Given the description of an element on the screen output the (x, y) to click on. 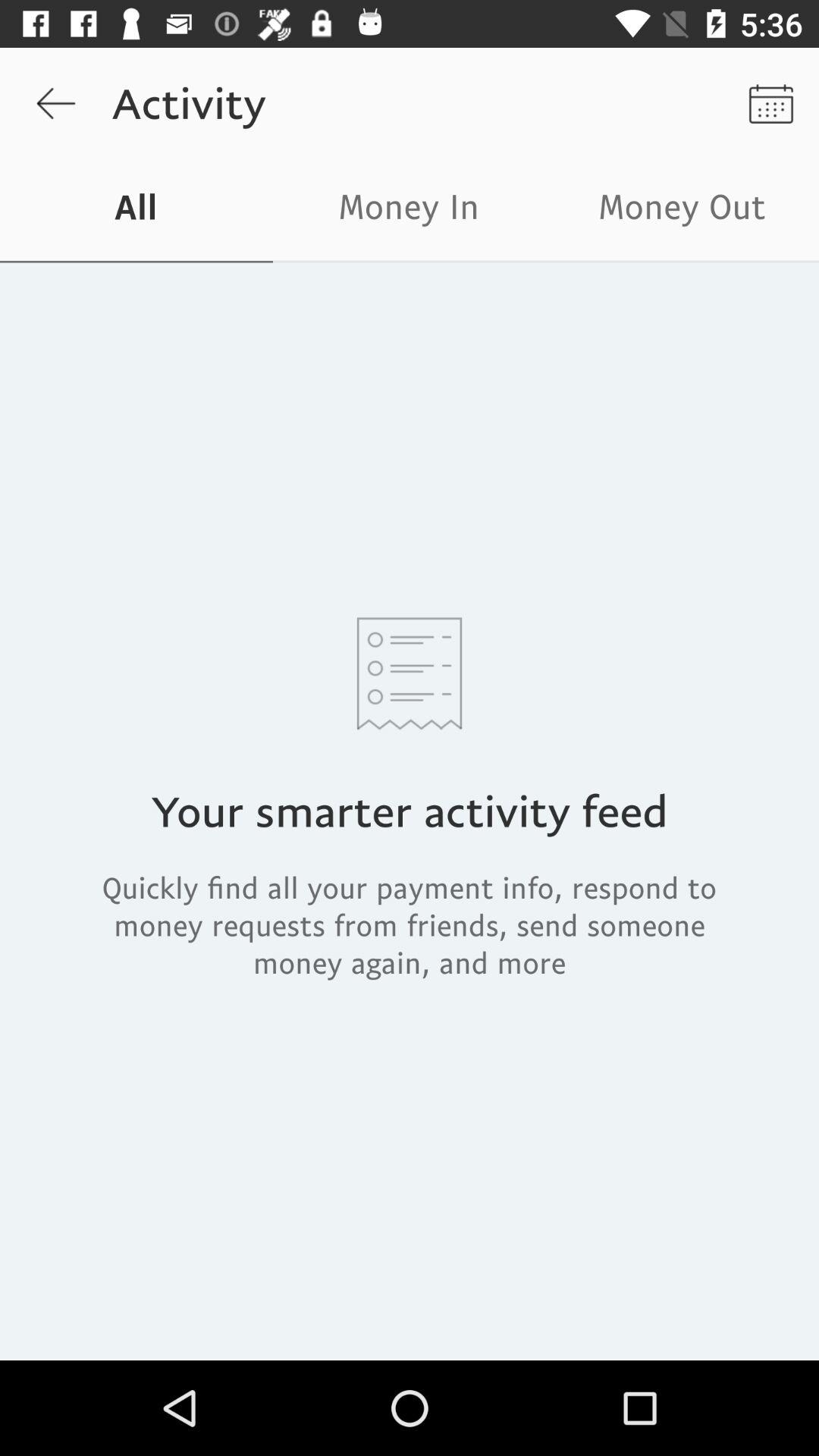
press the money in icon (409, 210)
